Given the description of an element on the screen output the (x, y) to click on. 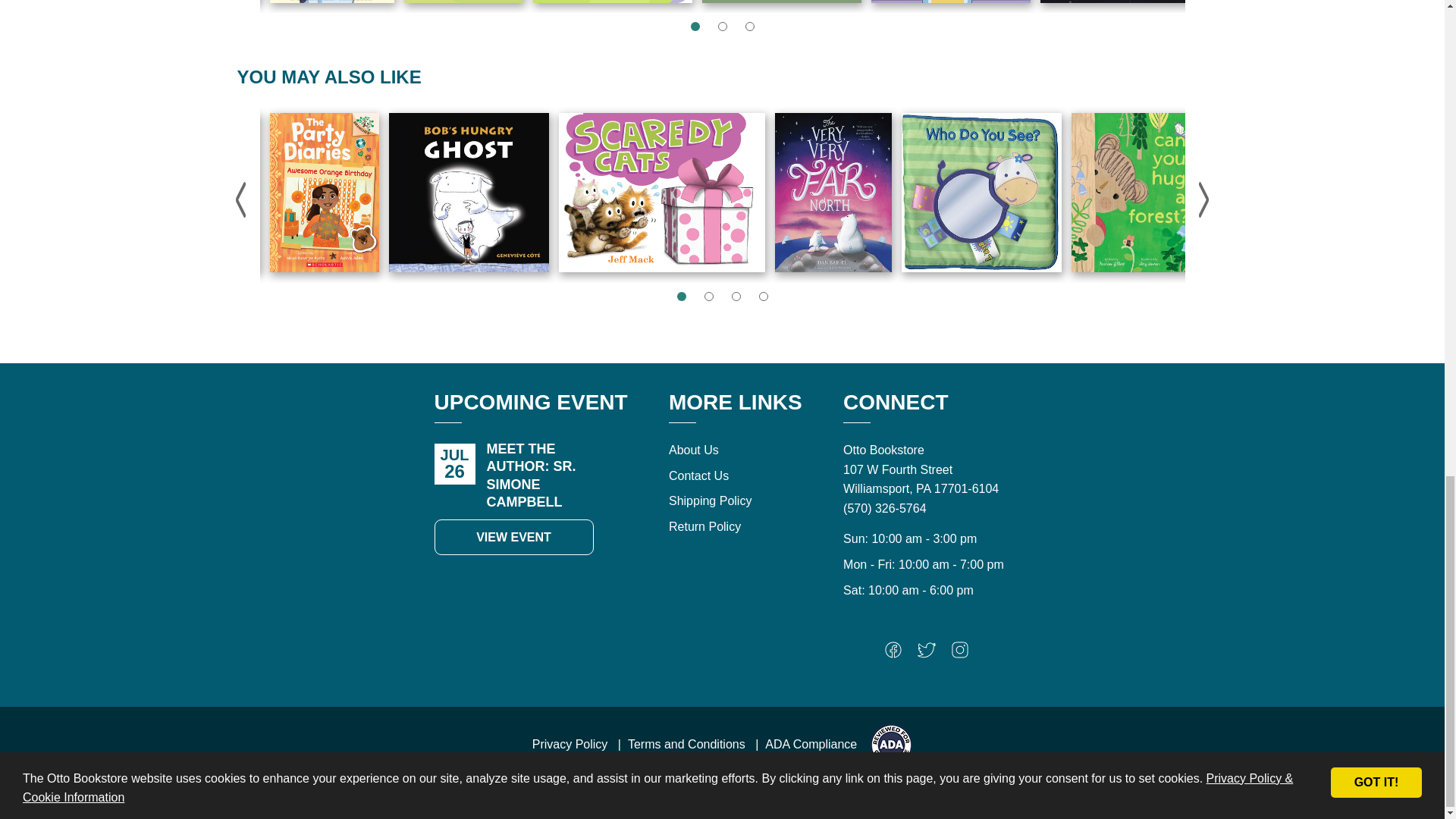
Connect with Instagram (959, 653)
Connect with Twitter (926, 653)
Connect with Facebook (892, 653)
